Given the description of an element on the screen output the (x, y) to click on. 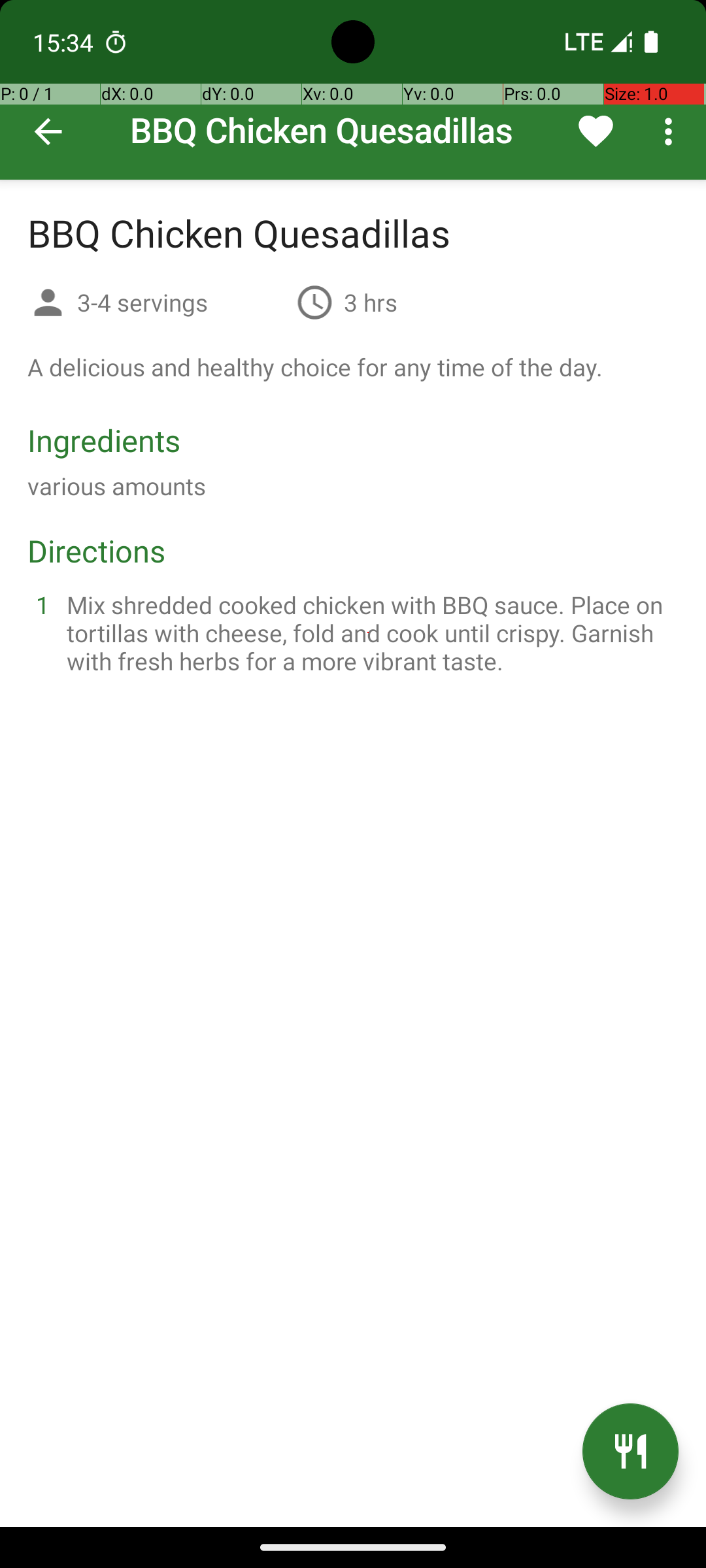
Mix shredded cooked chicken with BBQ sauce. Place on tortillas with cheese, fold and cook until crispy. Garnish with fresh herbs for a more vibrant taste. Element type: android.widget.TextView (368, 632)
